Given the description of an element on the screen output the (x, y) to click on. 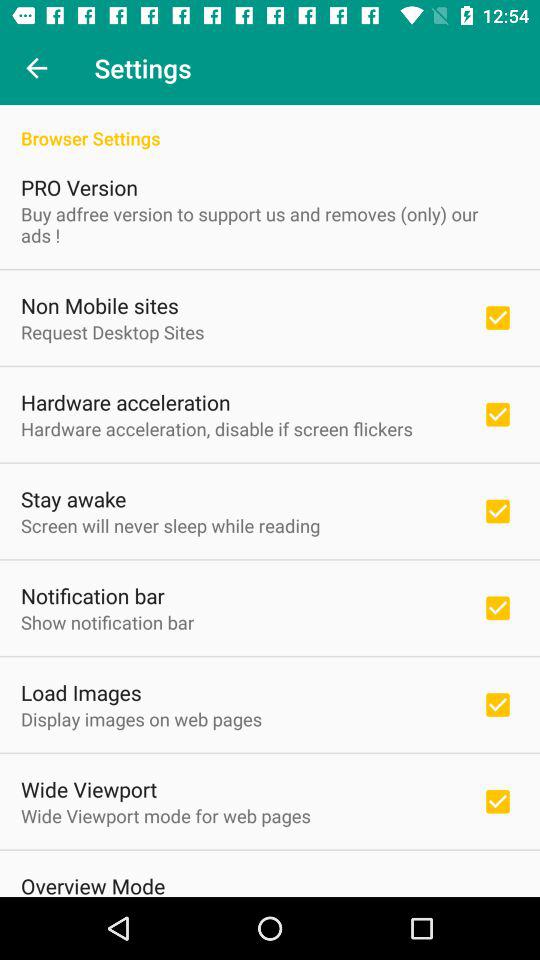
swipe to screen will never icon (170, 525)
